Given the description of an element on the screen output the (x, y) to click on. 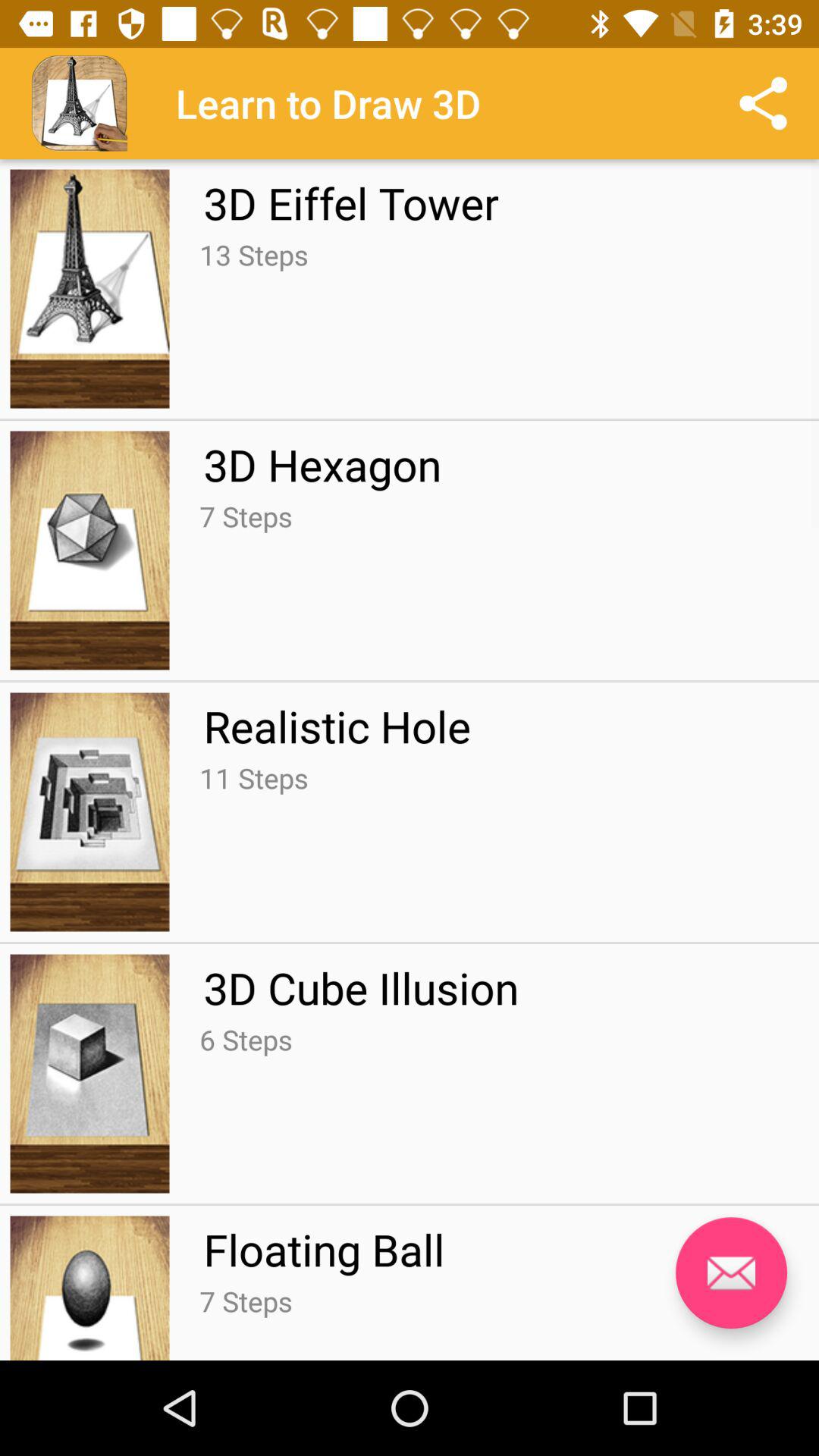
mail the article (731, 1272)
